Given the description of an element on the screen output the (x, y) to click on. 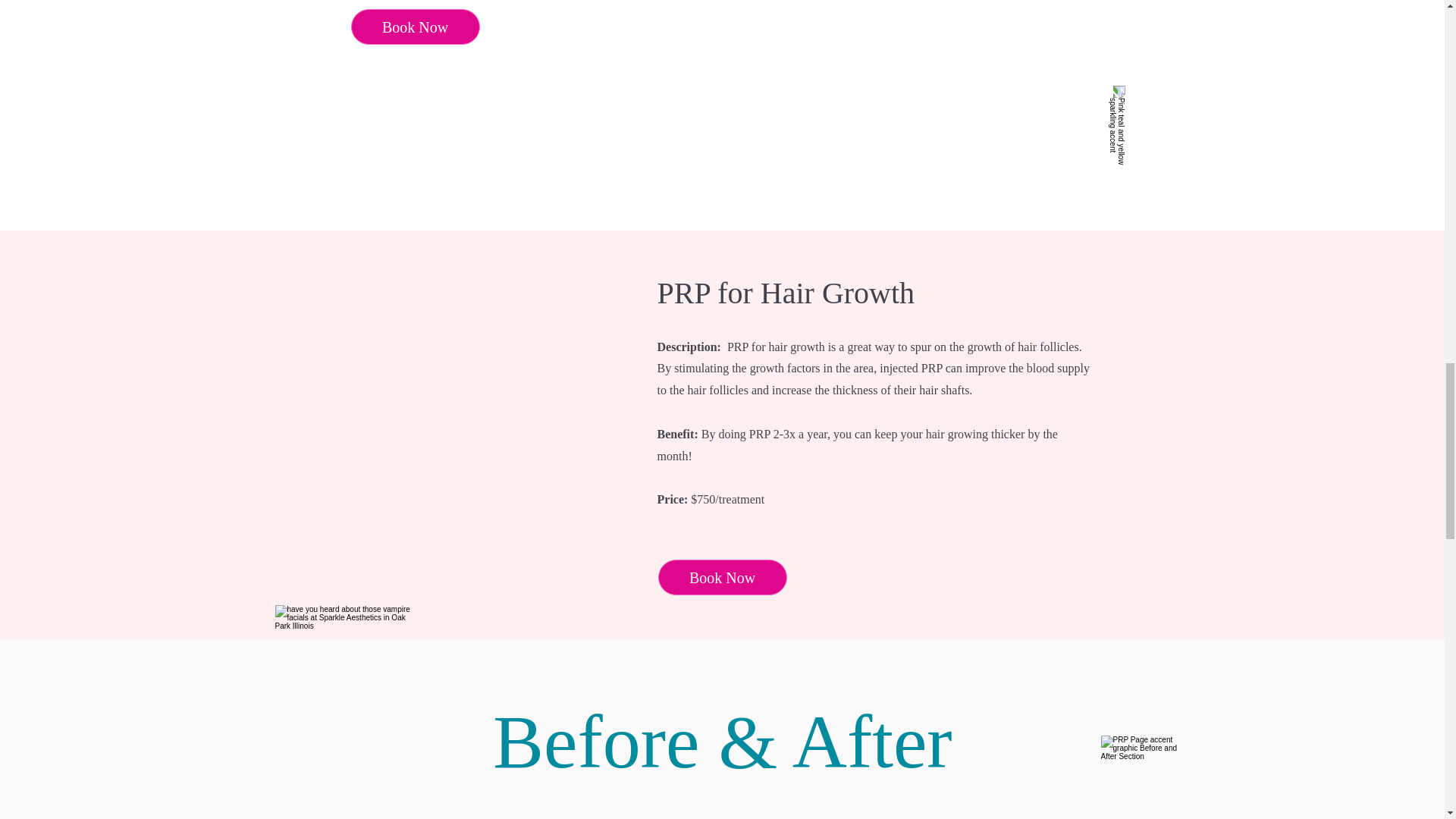
Book Now (414, 27)
Book Now (722, 577)
